Given the description of an element on the screen output the (x, y) to click on. 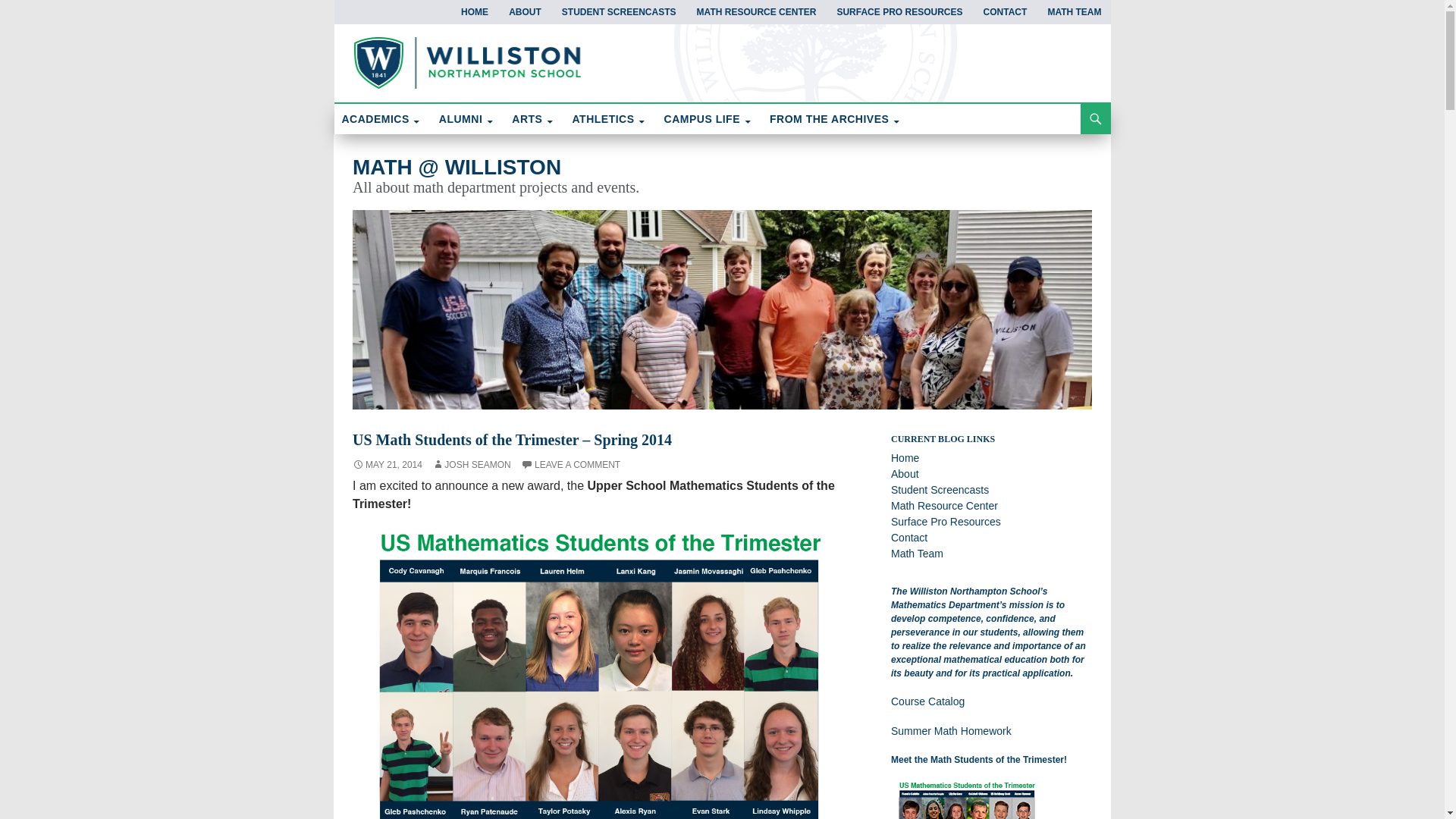
ATHLETICS (608, 119)
FROM THE ARCHIVES (834, 119)
ACADEMICS (380, 119)
ALUMNI (466, 119)
MATH TEAM (1073, 12)
HOME (474, 12)
ABOUT (524, 12)
STUDENT SCREENCASTS (619, 12)
SURFACE PRO RESOURCES (899, 12)
